Given the description of an element on the screen output the (x, y) to click on. 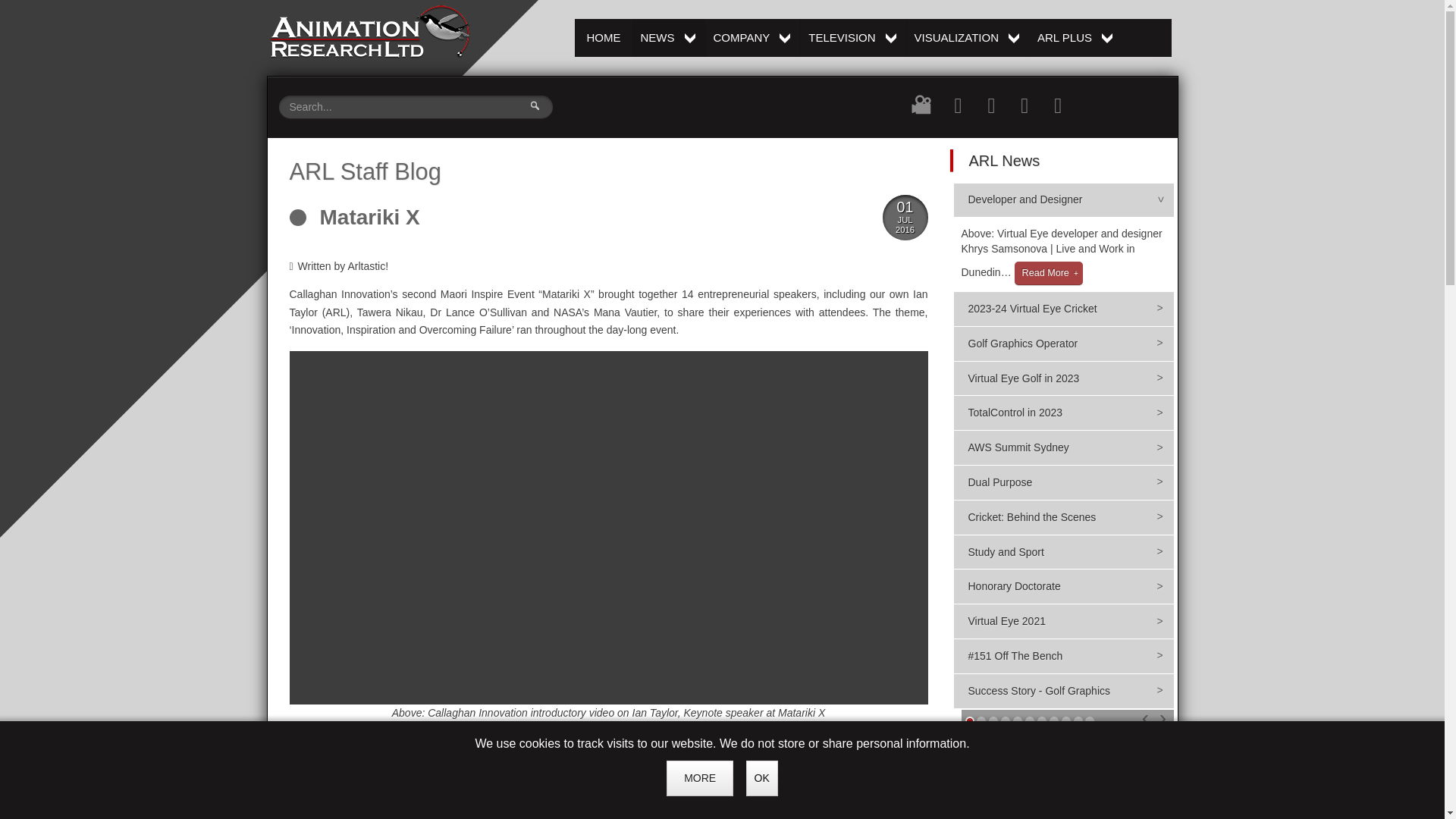
ARL Facebook (958, 105)
LinkedIn (366, 741)
Virtual Eye Twitter (991, 105)
ARL Showreel (921, 109)
ARL Home (368, 30)
HOME (1075, 37)
Matariki X (752, 37)
FaceBook (852, 37)
Virtual Eye YouTube (603, 37)
ARL LinkedIn (370, 217)
